Given the description of an element on the screen output the (x, y) to click on. 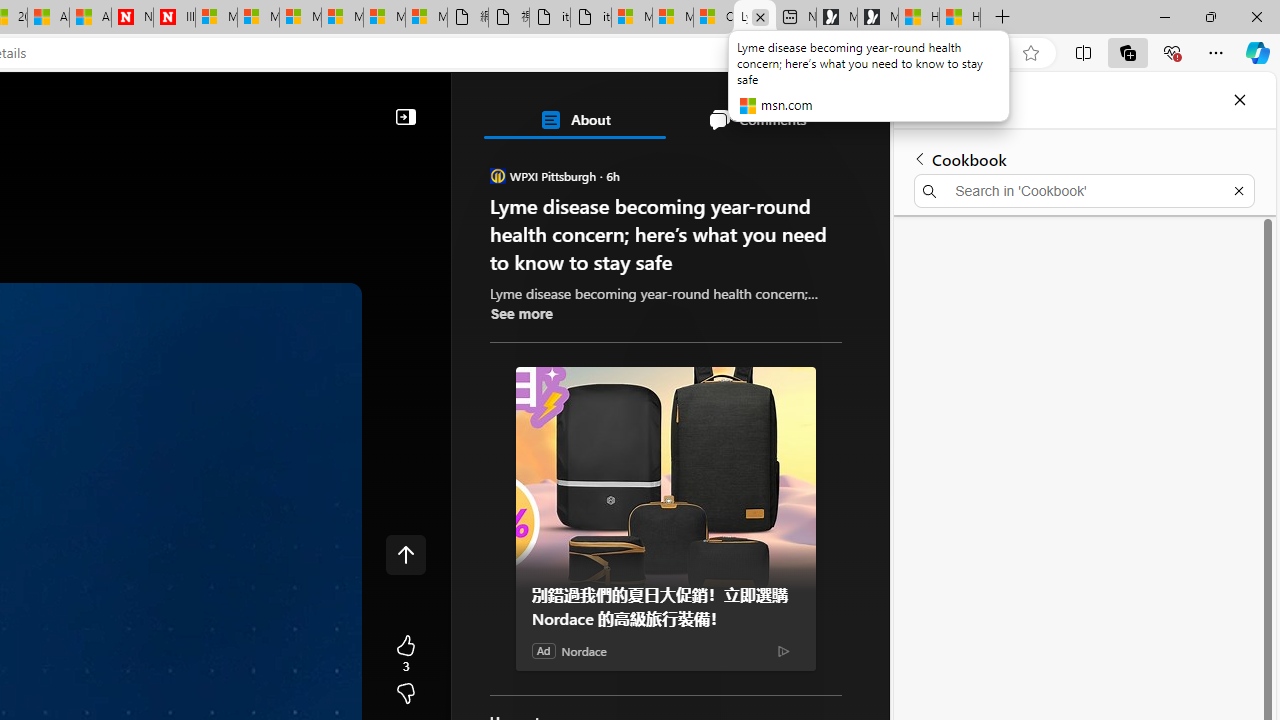
Consumer Health Data Privacy Policy (713, 17)
To get missing image descriptions, open the context menu. (478, 162)
Personalize (517, 162)
Copilot (Ctrl+Shift+.) (1258, 52)
New Tab (1003, 17)
Reuters (584, 557)
About (574, 119)
Close tab (760, 16)
See more (522, 313)
Dislike (406, 693)
